Given the description of an element on the screen output the (x, y) to click on. 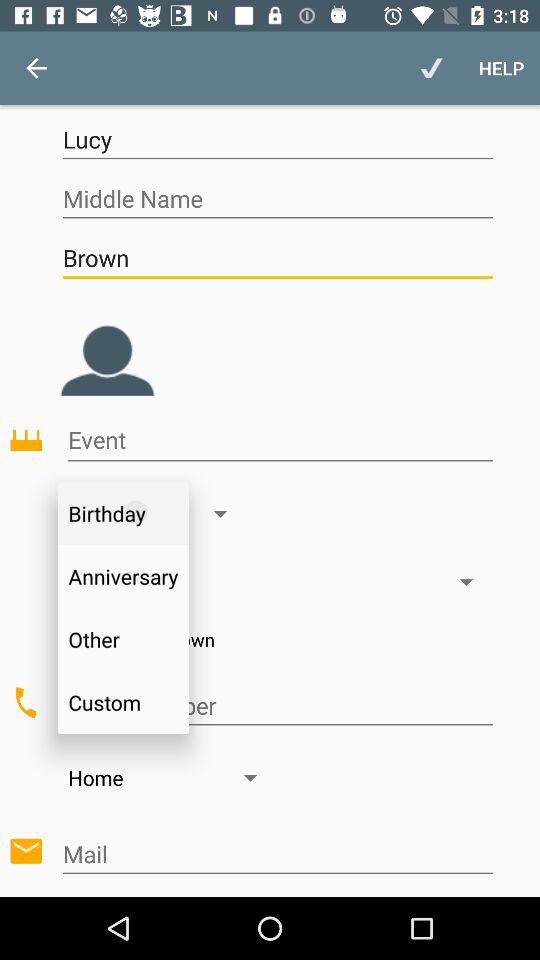
open icon above the brown item (277, 198)
